Given the description of an element on the screen output the (x, y) to click on. 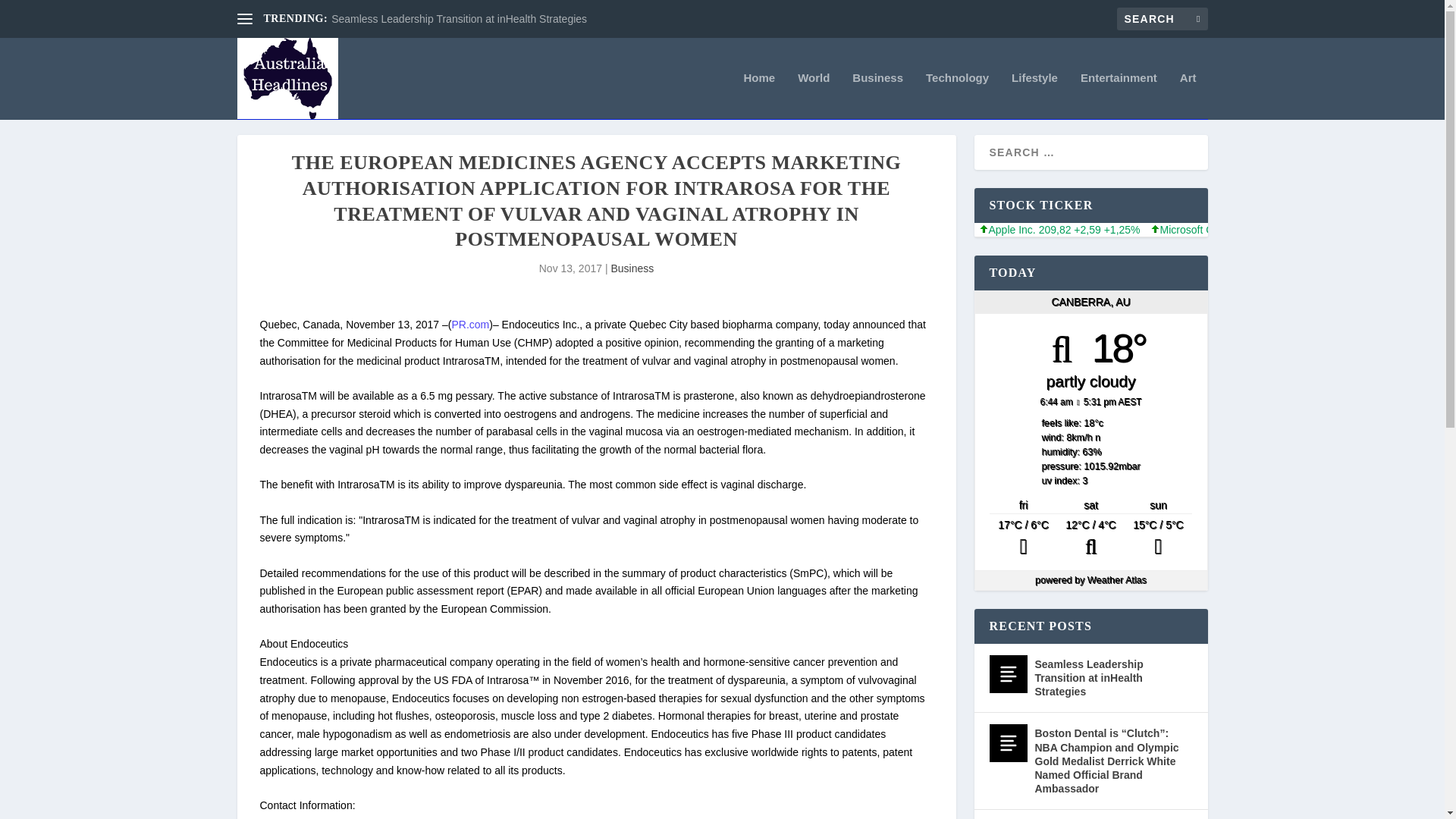
Search for: (1161, 18)
Business (631, 268)
PR.com (470, 324)
Business (876, 95)
Technology (957, 95)
Lifestyle (1034, 95)
Entertainment (1118, 95)
Seamless Leadership Transition at inHealth Strategies (458, 19)
